Given the description of an element on the screen output the (x, y) to click on. 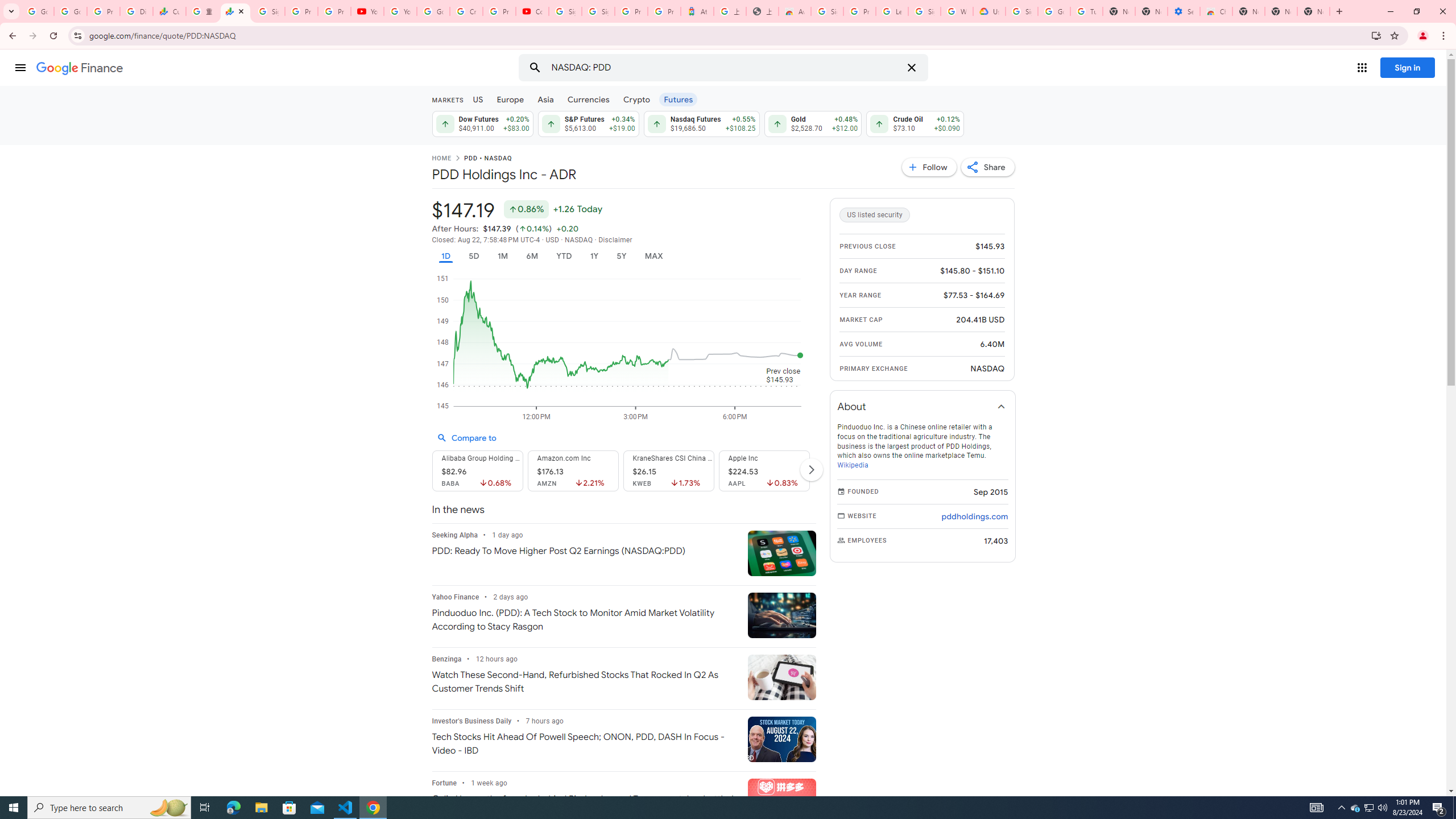
Clear search (911, 67)
YTD (563, 255)
YouTube (400, 11)
